Given the description of an element on the screen output the (x, y) to click on. 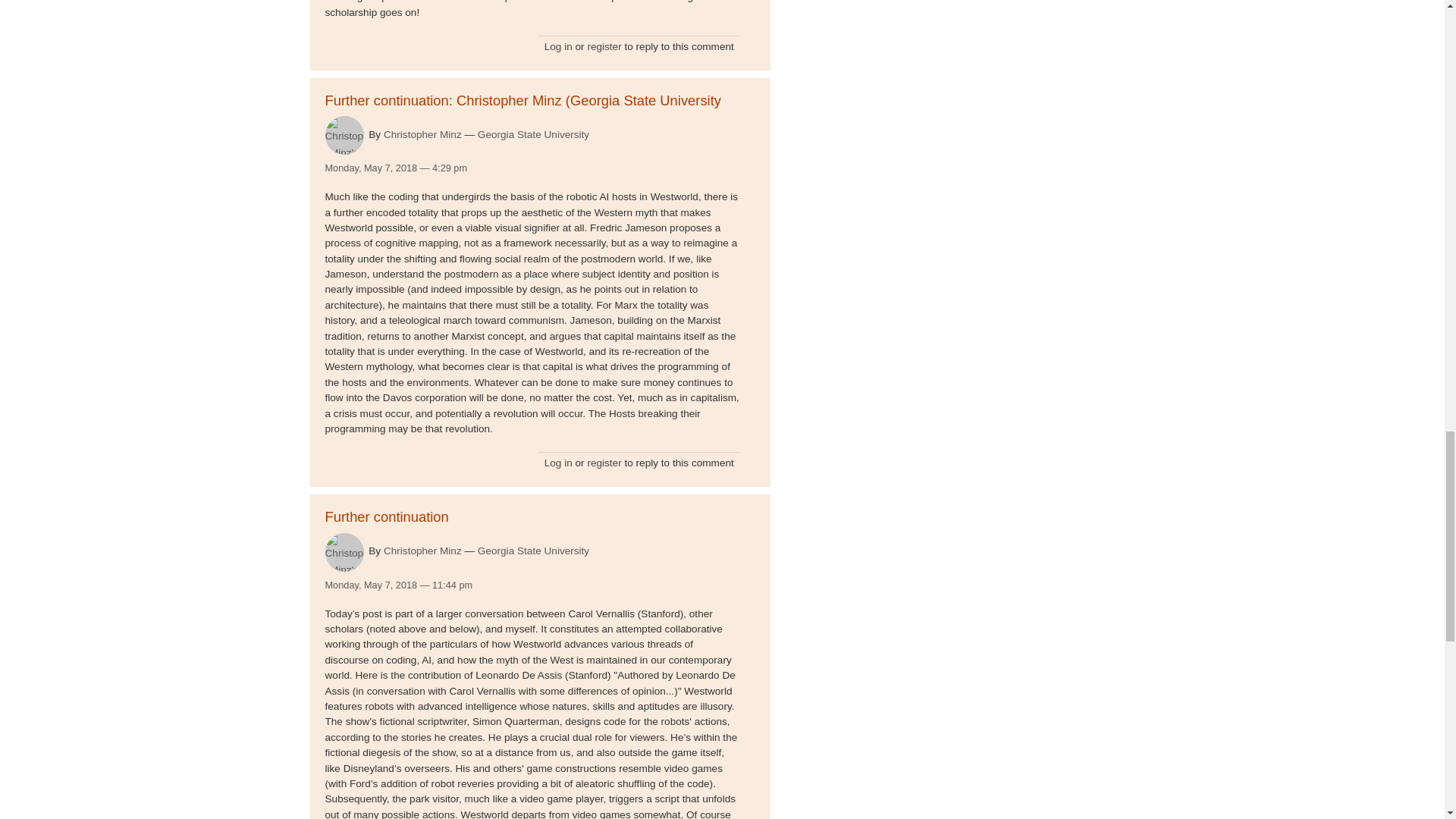
Log in (558, 46)
View user profile. (343, 135)
register (603, 46)
Georgia State University (533, 134)
User profile: Christopher Minz (422, 134)
Georgia State University (533, 134)
Georgia State University (533, 550)
Christopher Minz (422, 134)
Log in (558, 462)
User profile: Christopher Minz (422, 550)
